Given the description of an element on the screen output the (x, y) to click on. 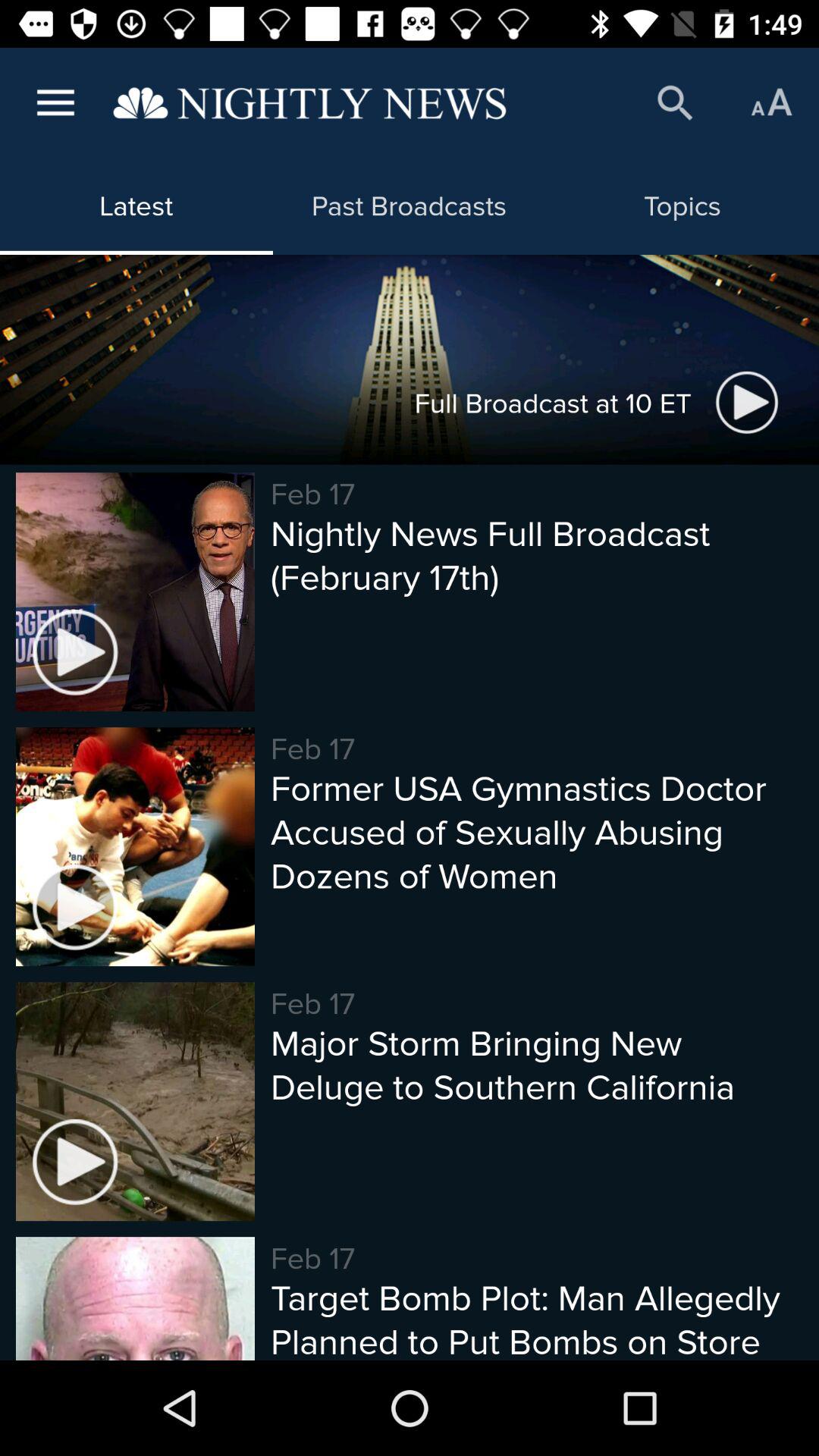
site headline (309, 103)
